Given the description of an element on the screen output the (x, y) to click on. 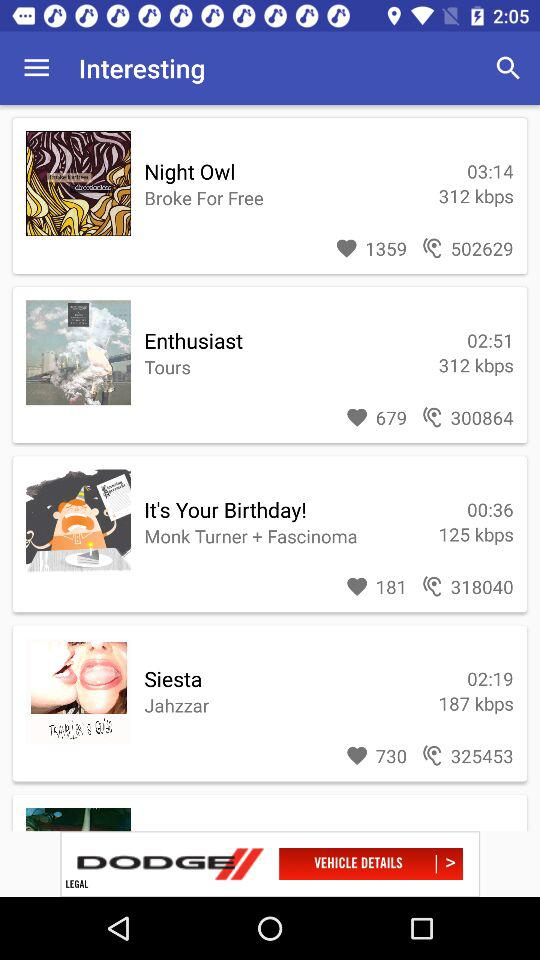
advertiment (270, 864)
